Given the description of an element on the screen output the (x, y) to click on. 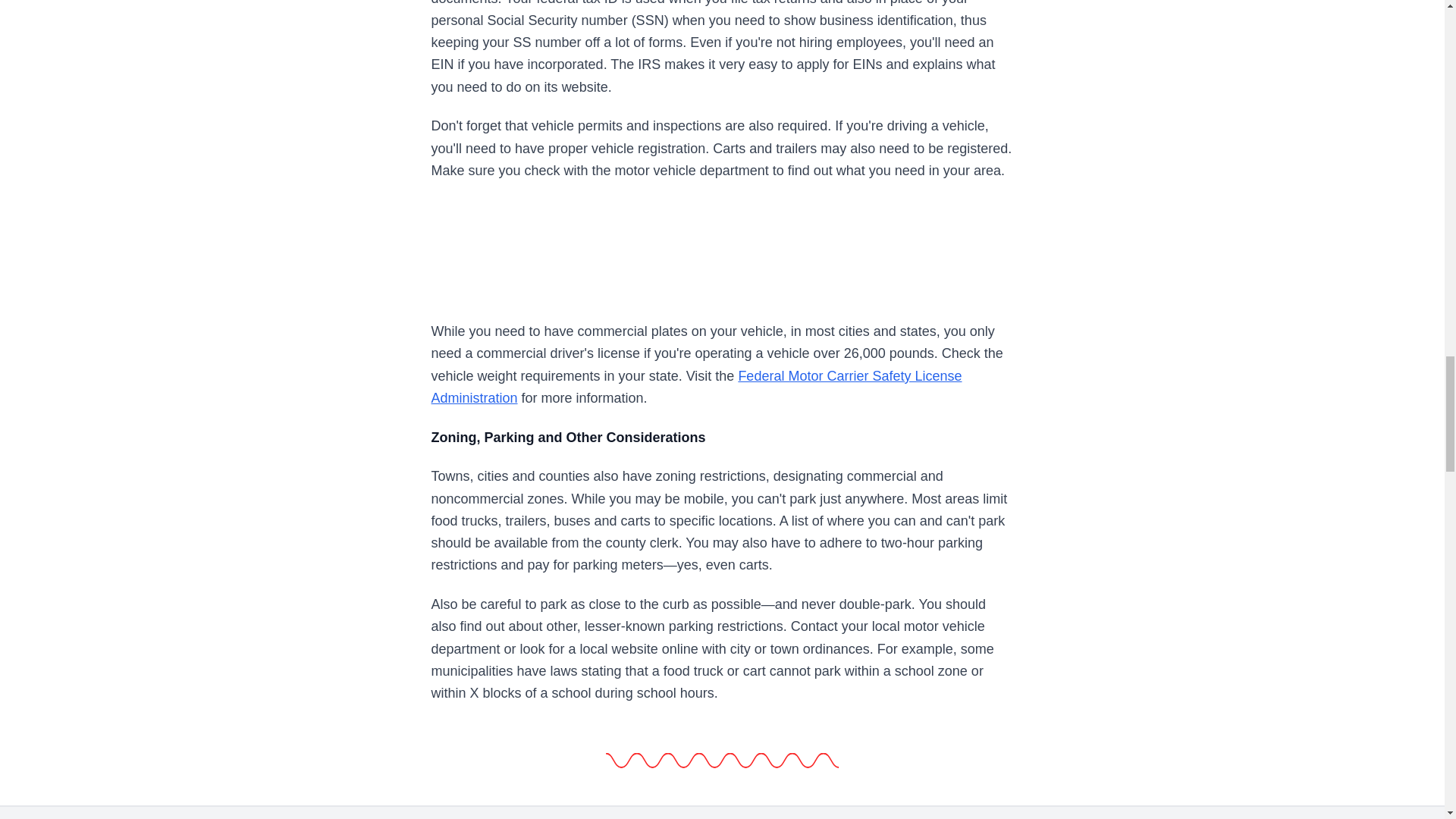
Entrepreneur Staff (466, 811)
